Given the description of an element on the screen output the (x, y) to click on. 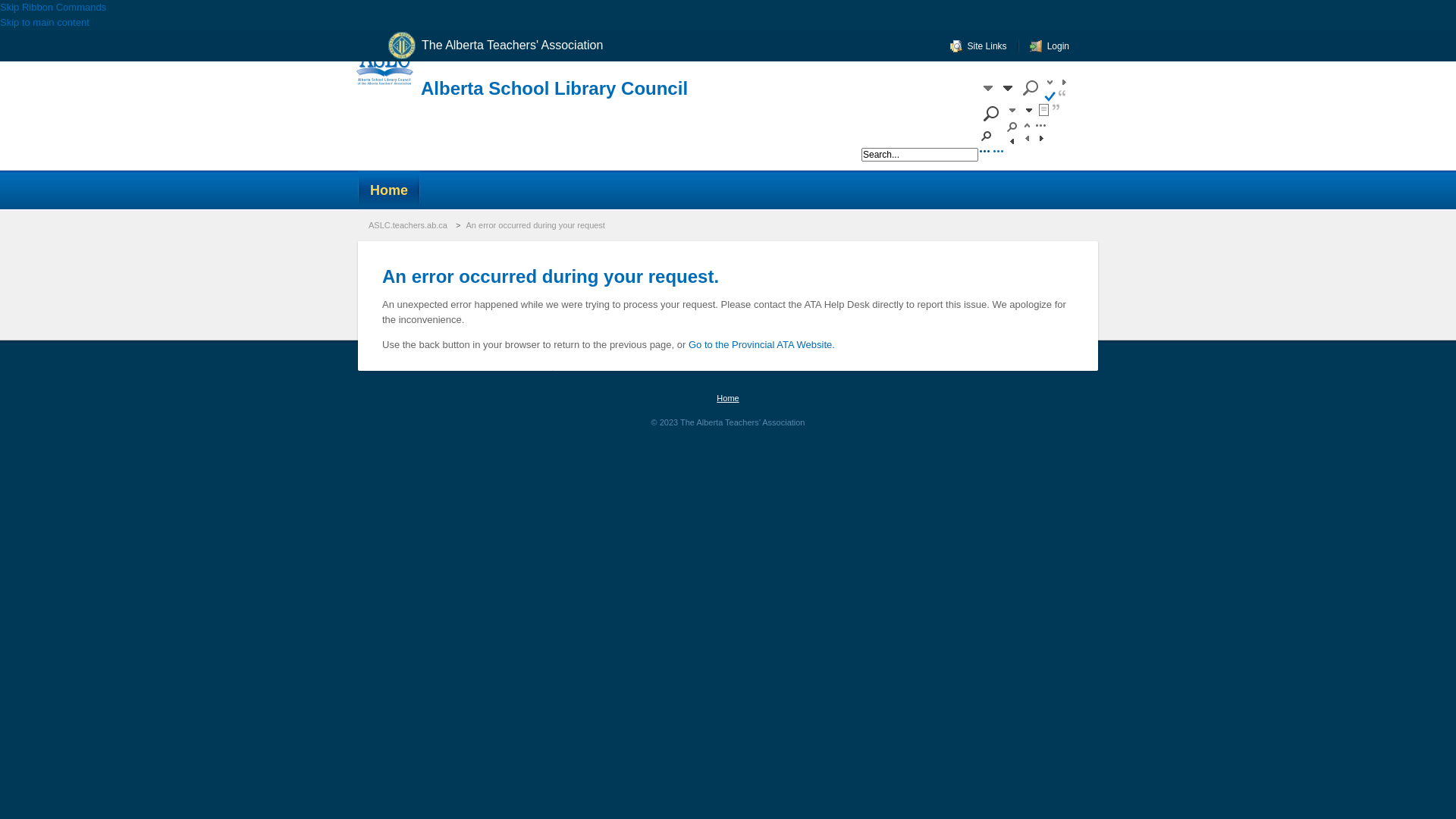
An error occurred during your request Element type: text (536, 224)
Skip Ribbon Commands Element type: text (53, 6)
Skip to main content Element type: text (44, 22)
The Alberta Teachers' Association Element type: text (505, 45)
Site Links Element type: text (978, 45)
Home Element type: text (388, 189)
Home Element type: text (727, 397)
Go to the Provincial ATA Website. Element type: text (761, 344)
Alberta School Library Council Element type: text (553, 88)
Search Element type: hover (1024, 154)
Login Element type: text (1049, 45)
ASLC.teachers.ab.ca Element type: text (409, 224)
Search... Element type: hover (919, 154)
